Given the description of an element on the screen output the (x, y) to click on. 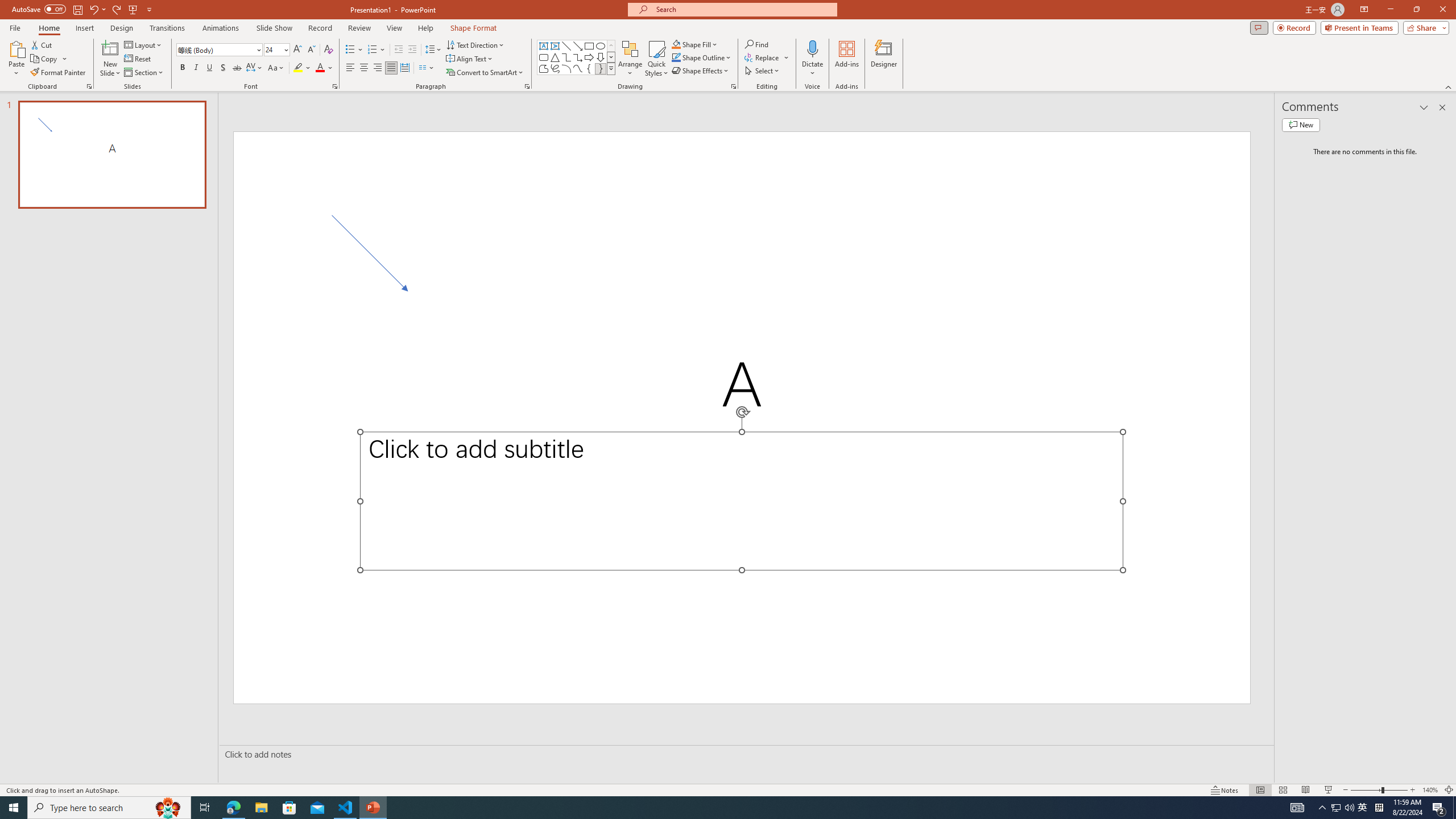
Layout (143, 44)
Text Highlight Color Yellow (297, 67)
Office Clipboard... (88, 85)
Clear Formatting (327, 49)
Shape Outline (701, 56)
Isosceles Triangle (554, 57)
Connector: Elbow (566, 57)
